Given the description of an element on the screen output the (x, y) to click on. 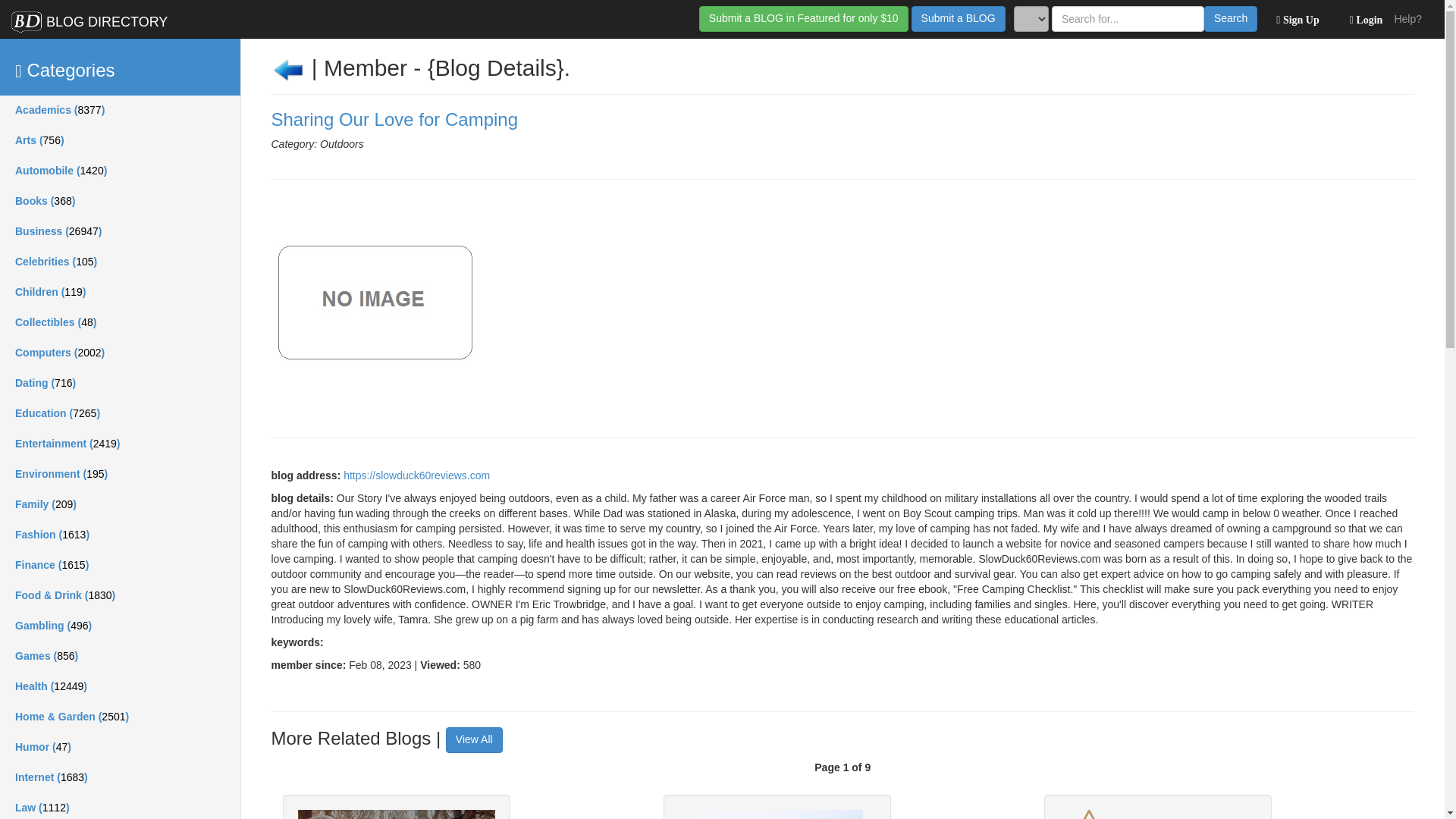
Search (1230, 18)
Sing Up (1293, 18)
Children (120, 292)
Categories (120, 66)
Computers (120, 353)
BLOG DIRECTORY (89, 18)
Help? (1406, 18)
View All (473, 739)
Education (120, 413)
Books (120, 201)
Business (120, 232)
Login (1362, 18)
Academics (120, 110)
Family (120, 504)
Celebrities (120, 262)
